Given the description of an element on the screen output the (x, y) to click on. 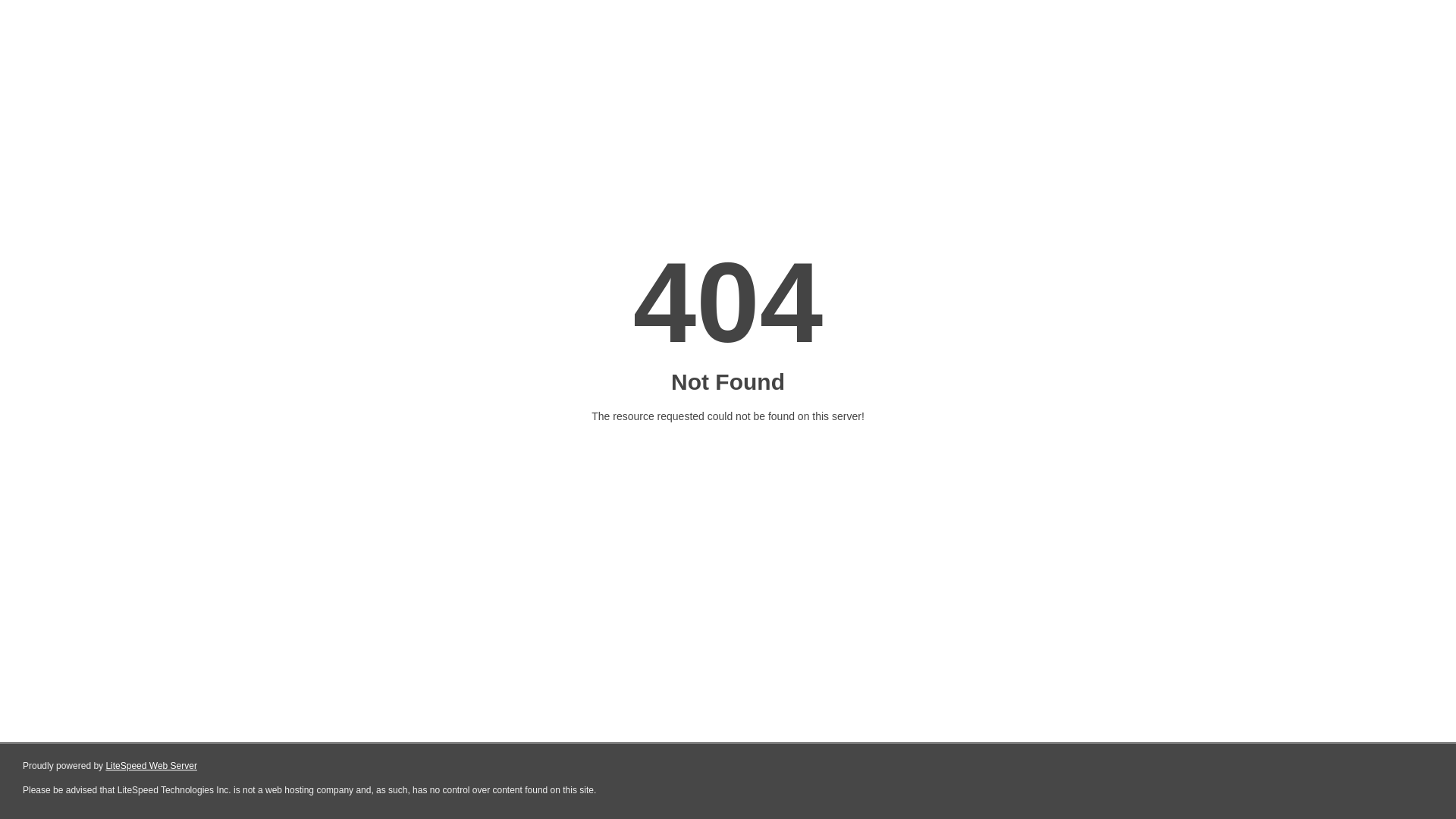
LiteSpeed Web Server Element type: text (151, 765)
